Given the description of an element on the screen output the (x, y) to click on. 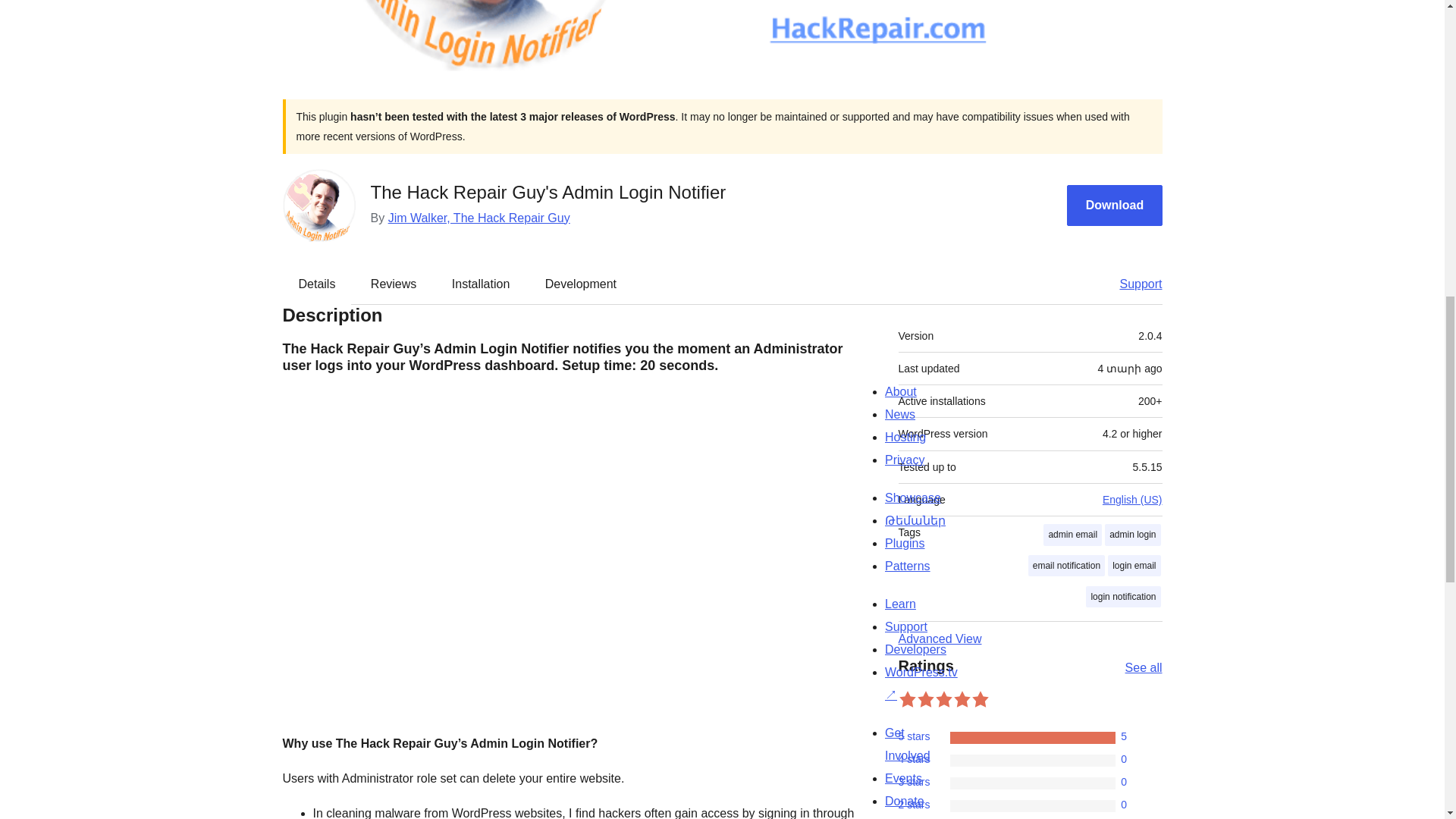
Support (1132, 284)
Reviews (392, 284)
Development (580, 284)
Download (1114, 205)
Installation (480, 284)
Details (316, 284)
Jim Walker, The Hack Repair Guy (479, 216)
